Given the description of an element on the screen output the (x, y) to click on. 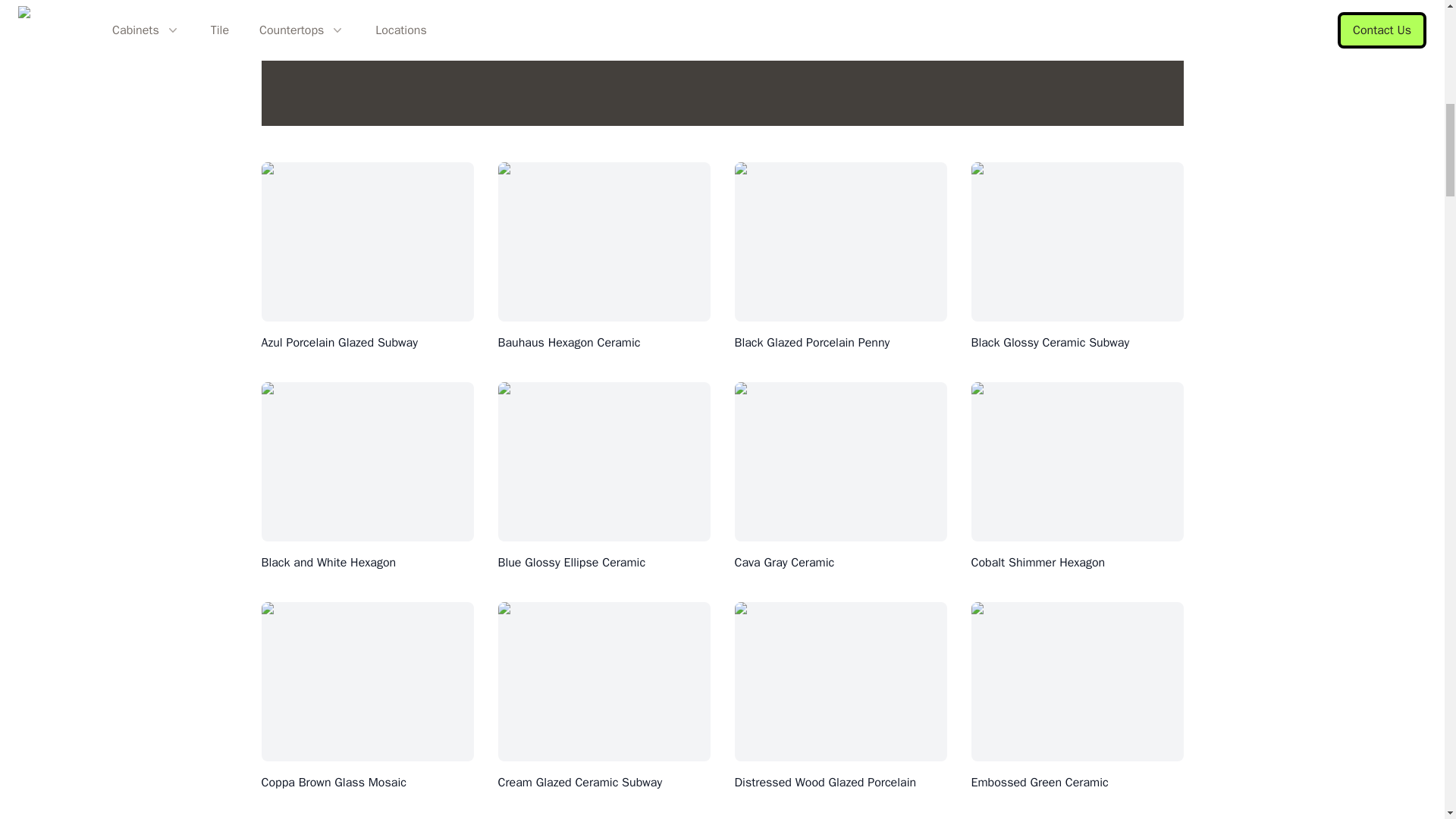
Cream Glazed Ceramic Subway (579, 782)
Black Glazed Porcelain Penny (811, 342)
Distressed Wood Glazed Porcelain (824, 782)
Azul Porcelain Glazed Subway (338, 342)
Bauhaus Hexagon Ceramic (568, 342)
Cava Gray Ceramic (783, 562)
Black and White Hexagon (328, 562)
Cobalt Shimmer Hexagon (1038, 562)
Black Glossy Ceramic Subway (1050, 342)
Coppa Brown Glass Mosaic (333, 782)
